Given the description of an element on the screen output the (x, y) to click on. 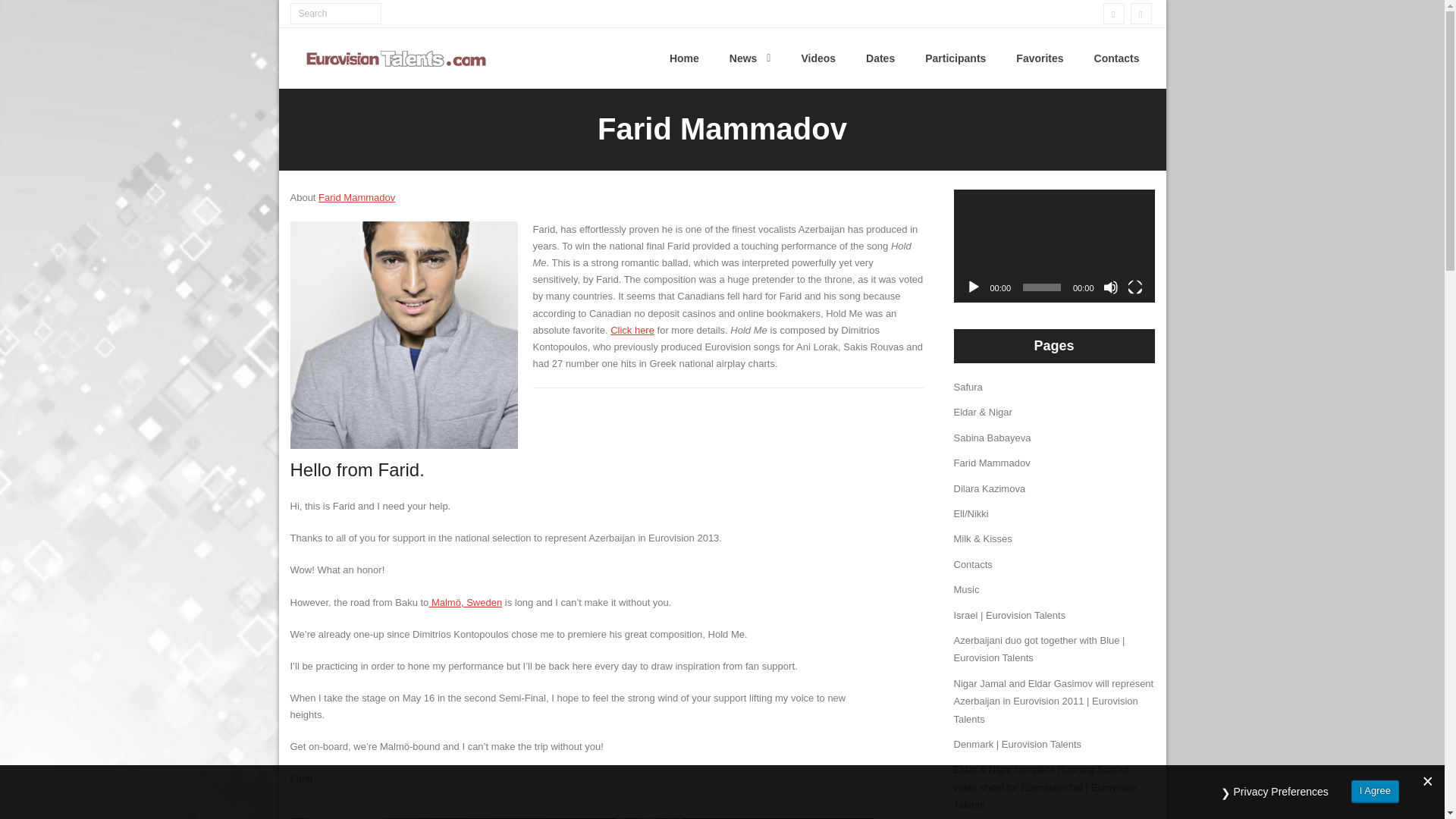
Contacts (972, 564)
Mute (1110, 287)
Videos (818, 57)
Sabina Babayeva (991, 437)
Dilara Kazimova (989, 488)
Dates (880, 57)
News (750, 57)
Fullscreen (1133, 287)
Contacts (1116, 57)
Participants (955, 57)
